Given the description of an element on the screen output the (x, y) to click on. 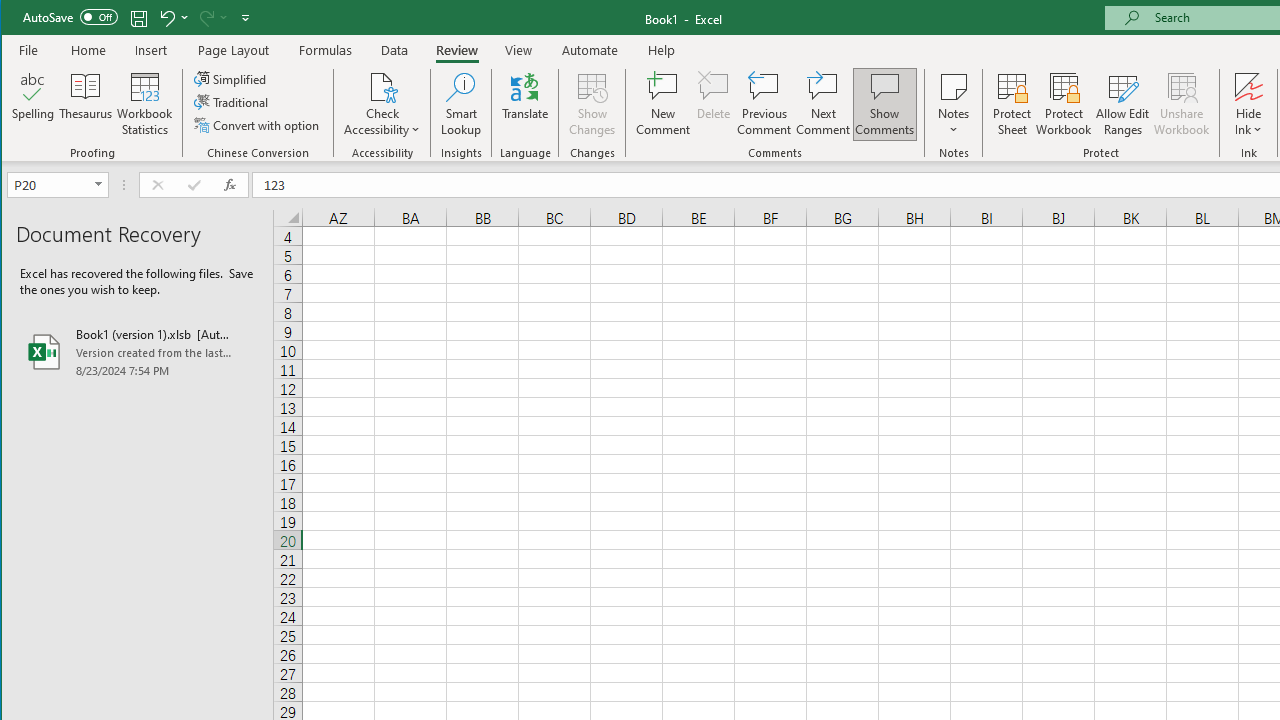
Spelling... (33, 104)
Translate (525, 104)
Thesaurus... (86, 104)
New Comment (662, 104)
Show Comments (884, 104)
